Given the description of an element on the screen output the (x, y) to click on. 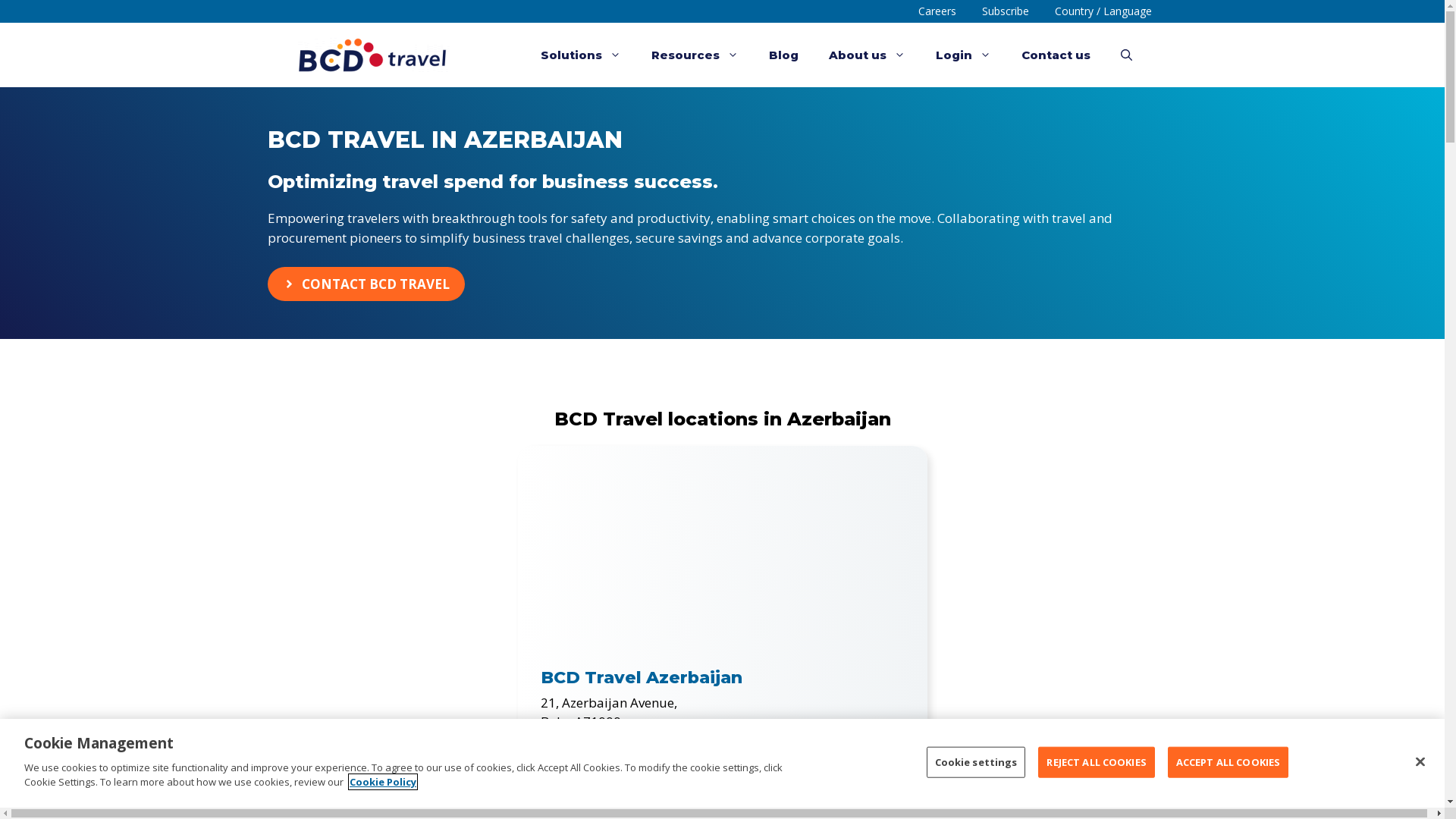
REJECT ALL COOKIES Element type: text (1096, 762)
Subscribe Element type: text (1005, 11)
Contact us Element type: text (1054, 54)
Resources Element type: text (694, 54)
corpdep@bcdtravel.az Element type: text (607, 759)
+994 1 2498 9113 Element type: text (605, 740)
Cookie settings Element type: text (976, 762)
Cookie Policy Element type: text (382, 781)
Get Directions Element type: text (581, 798)
Login Element type: text (963, 54)
Careers Element type: text (937, 11)
CONTACT BCD TRAVEL Element type: text (365, 283)
BCD Travel Azerbaijan Element type: text (640, 677)
Country / Language Element type: text (1102, 11)
Solutions Element type: text (579, 54)
Blog Element type: text (783, 54)
BCD Travel Element type: hover (372, 54)
ACCEPT ALL COOKIES Element type: text (1227, 762)
About us Element type: text (865, 54)
